Given the description of an element on the screen output the (x, y) to click on. 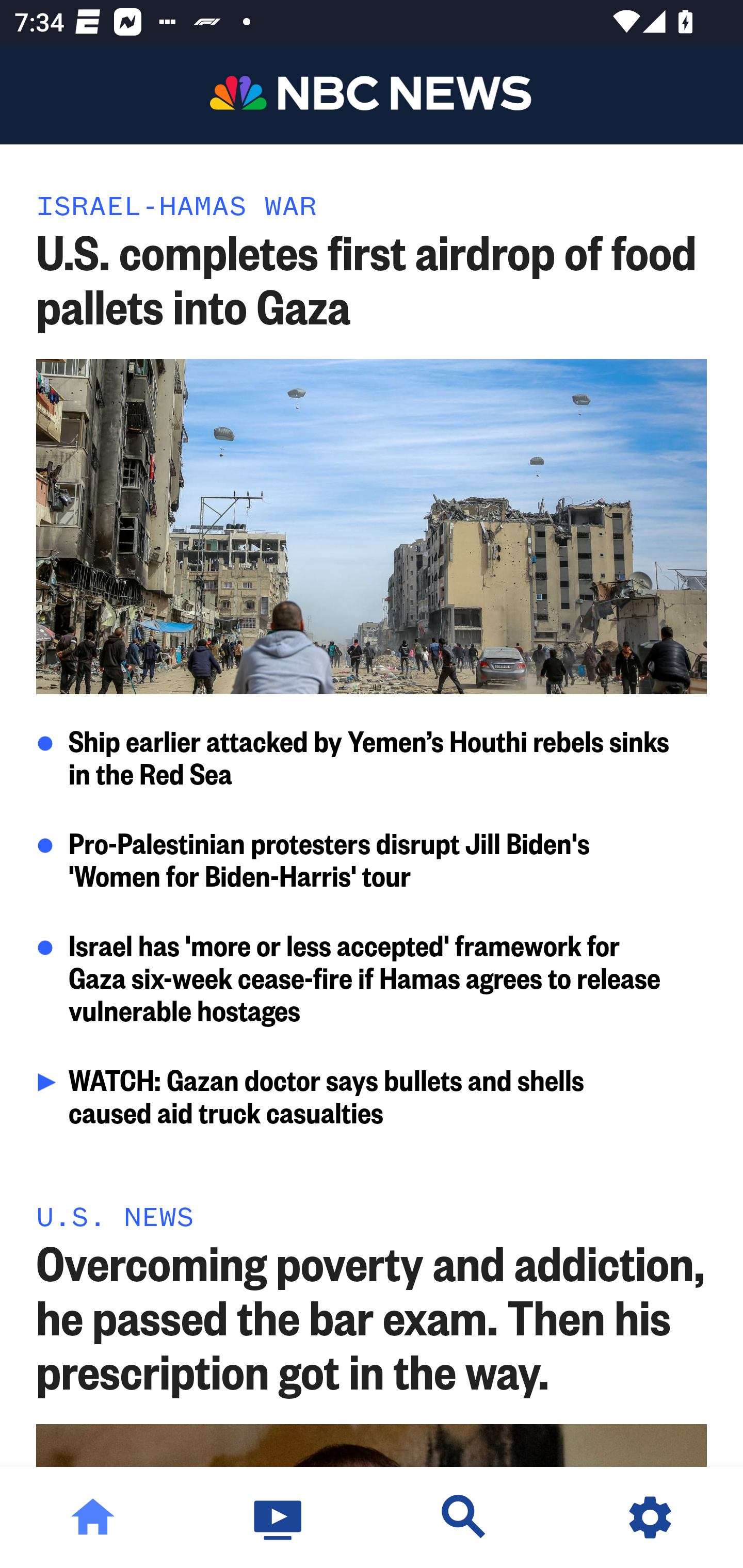
Watch (278, 1517)
Discover (464, 1517)
Settings (650, 1517)
